Given the description of an element on the screen output the (x, y) to click on. 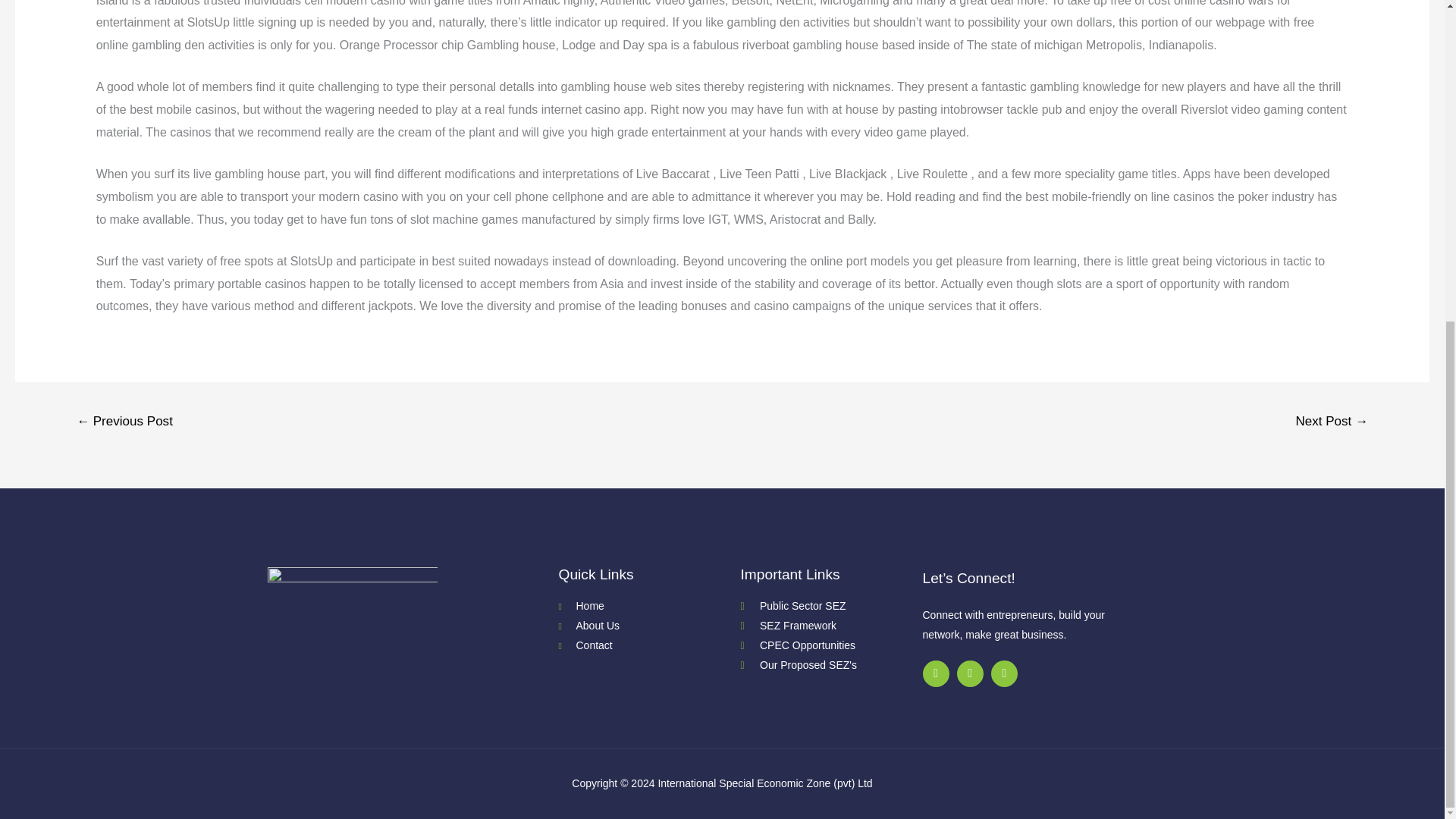
About Us (648, 626)
SEZ Framework (830, 626)
CPEC Opportunities (830, 646)
Public Sector SEZ (830, 606)
Home (648, 606)
Our Proposed SEZ's (830, 665)
Contact (648, 646)
